Given the description of an element on the screen output the (x, y) to click on. 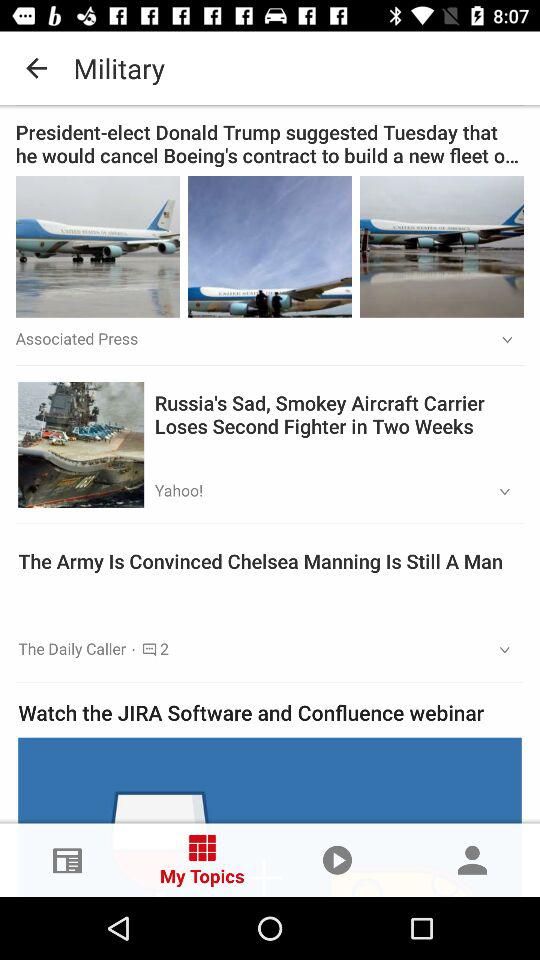
click on first dropdown from top (500, 341)
select the image which is to the left side of the text yahoo  (80, 444)
click on the drop down button which is beside text yahoo (498, 492)
the image is in the middle (269, 246)
click on the right of my topics (337, 859)
